Given the description of an element on the screen output the (x, y) to click on. 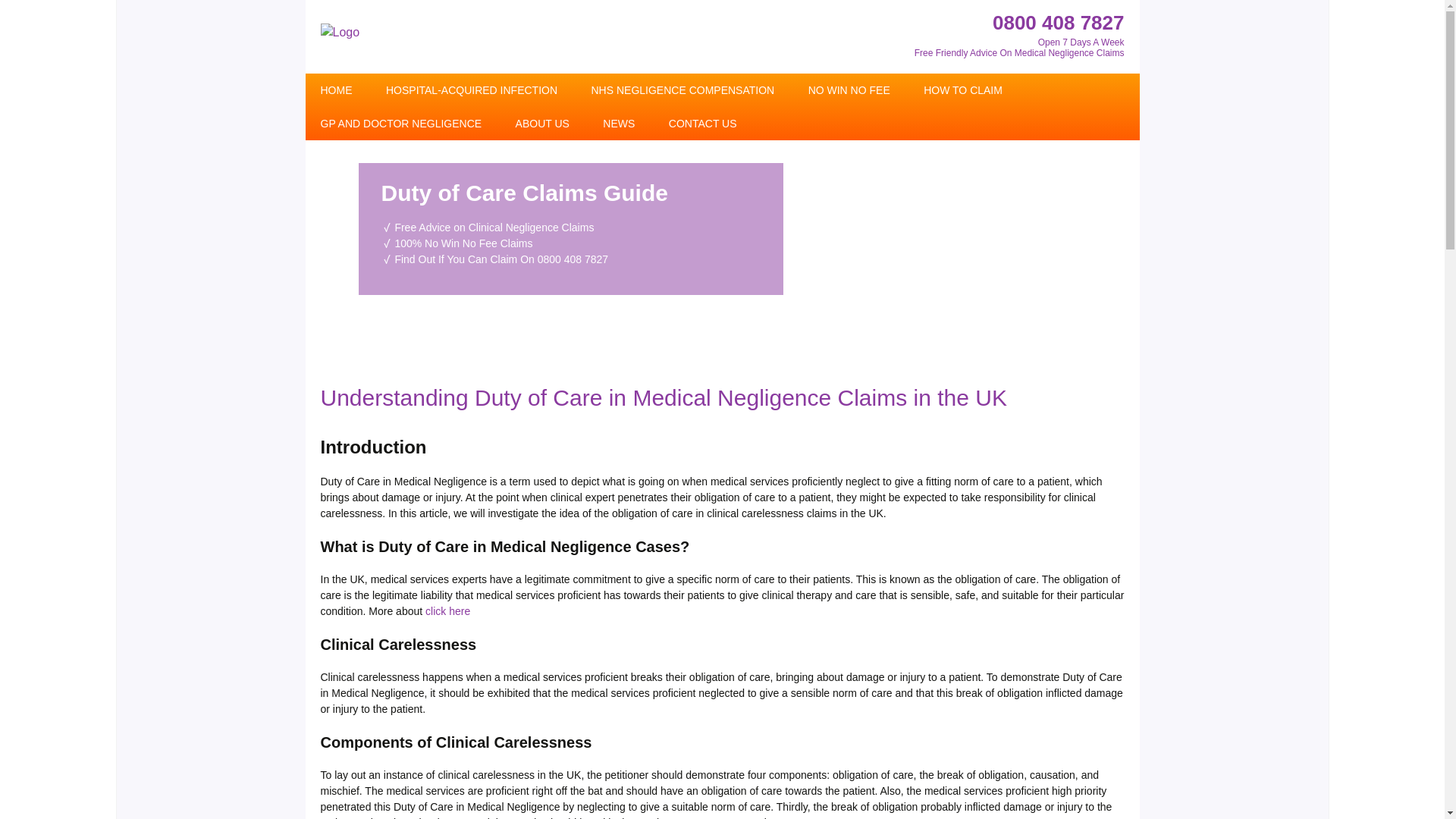
HOSPITAL-ACQUIRED INFECTION (471, 90)
ABOUT US (542, 123)
HOW TO CLAIM (962, 90)
MEDICAL NEGLIGENCE (662, 156)
GP AND DOCTOR NEGLIGENCE (400, 123)
HOME (335, 90)
click here (447, 611)
CONTACT US (702, 123)
NEWS (618, 123)
NO WIN NO FEE (849, 90)
NHS NEGLIGENCE COMPENSATION (683, 90)
